Given the description of an element on the screen output the (x, y) to click on. 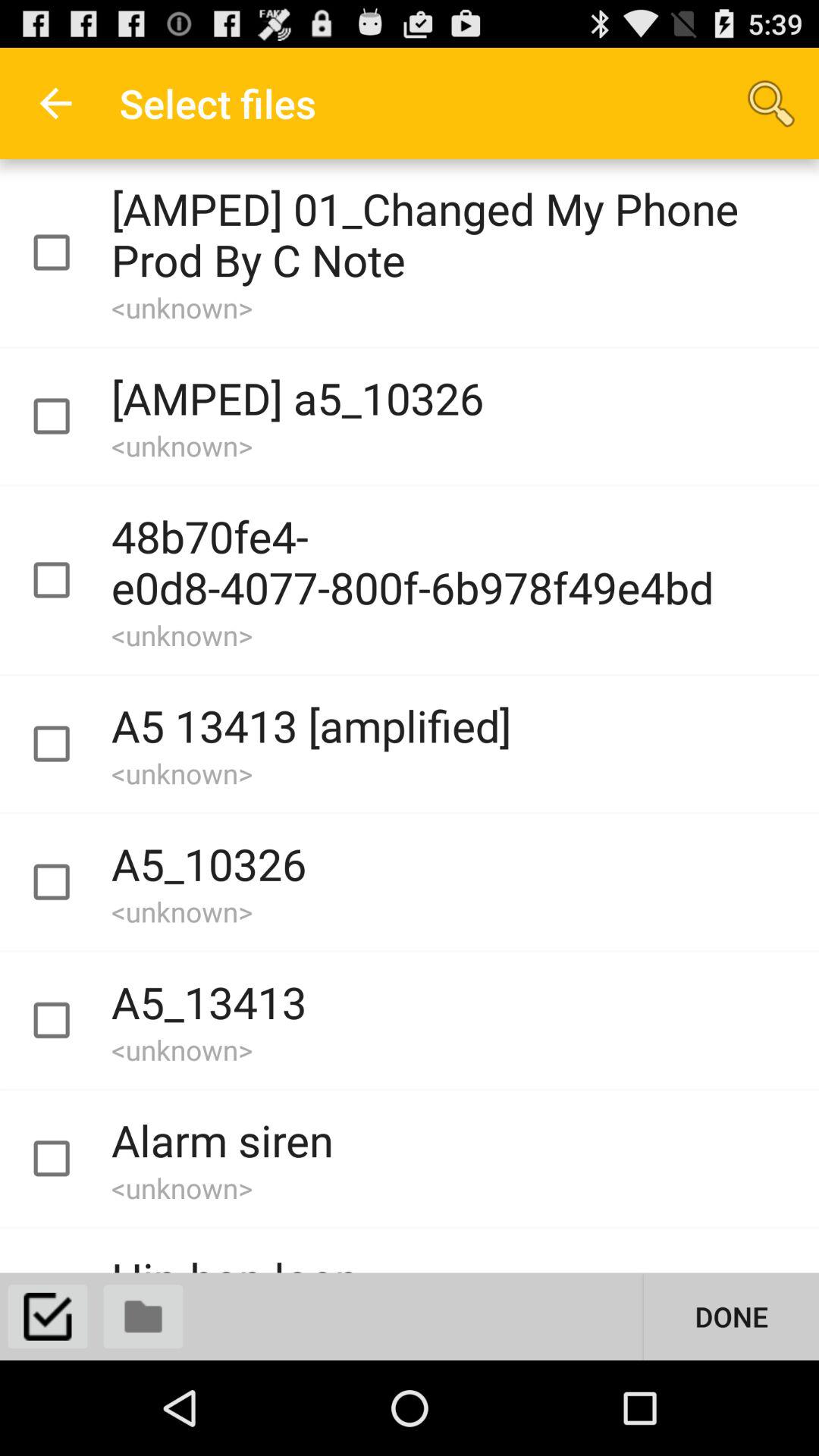
select file (65, 882)
